Given the description of an element on the screen output the (x, y) to click on. 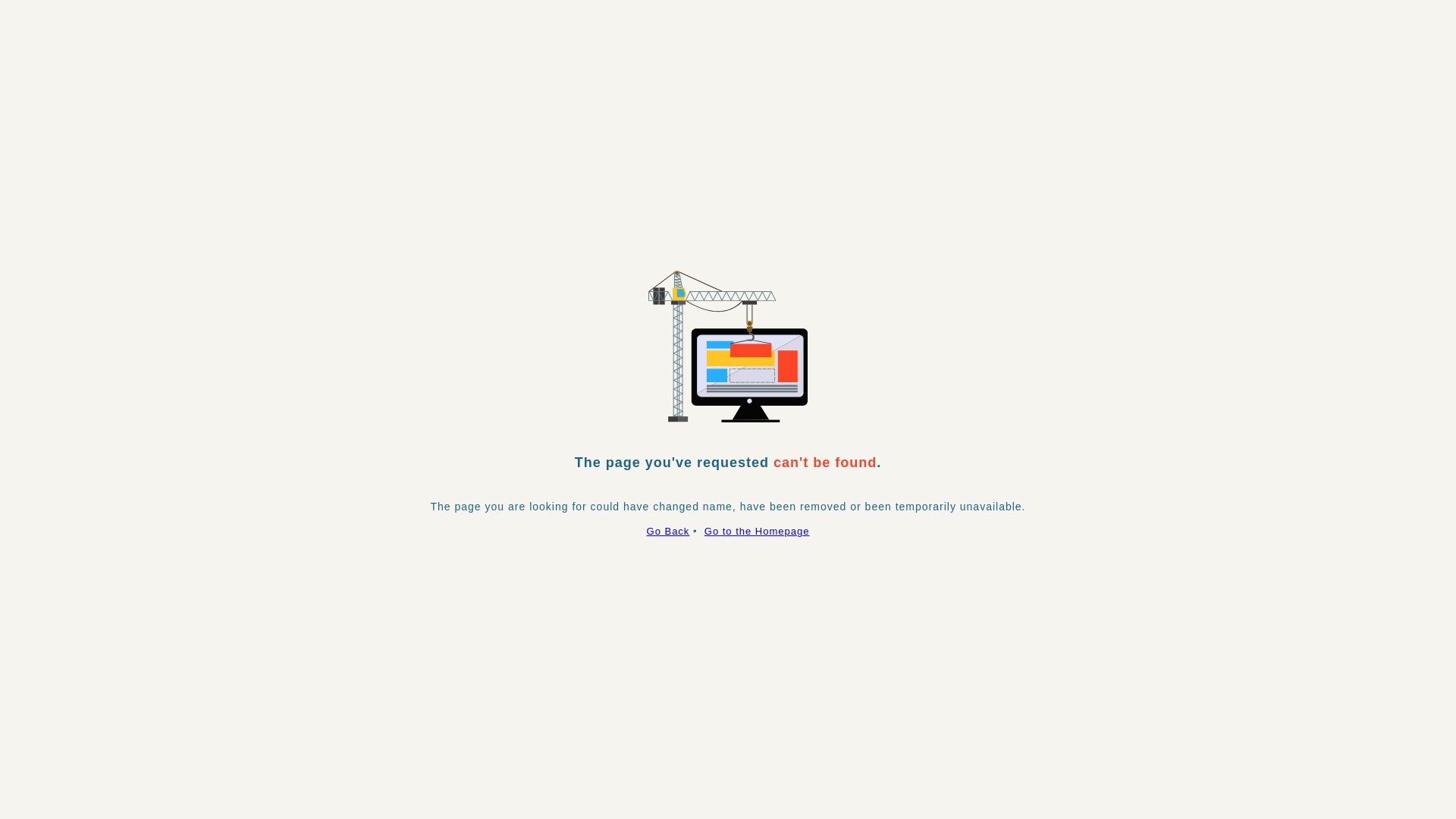
Go Back Element type: text (668, 530)
Go to the Homepage Element type: text (756, 530)
